Given the description of an element on the screen output the (x, y) to click on. 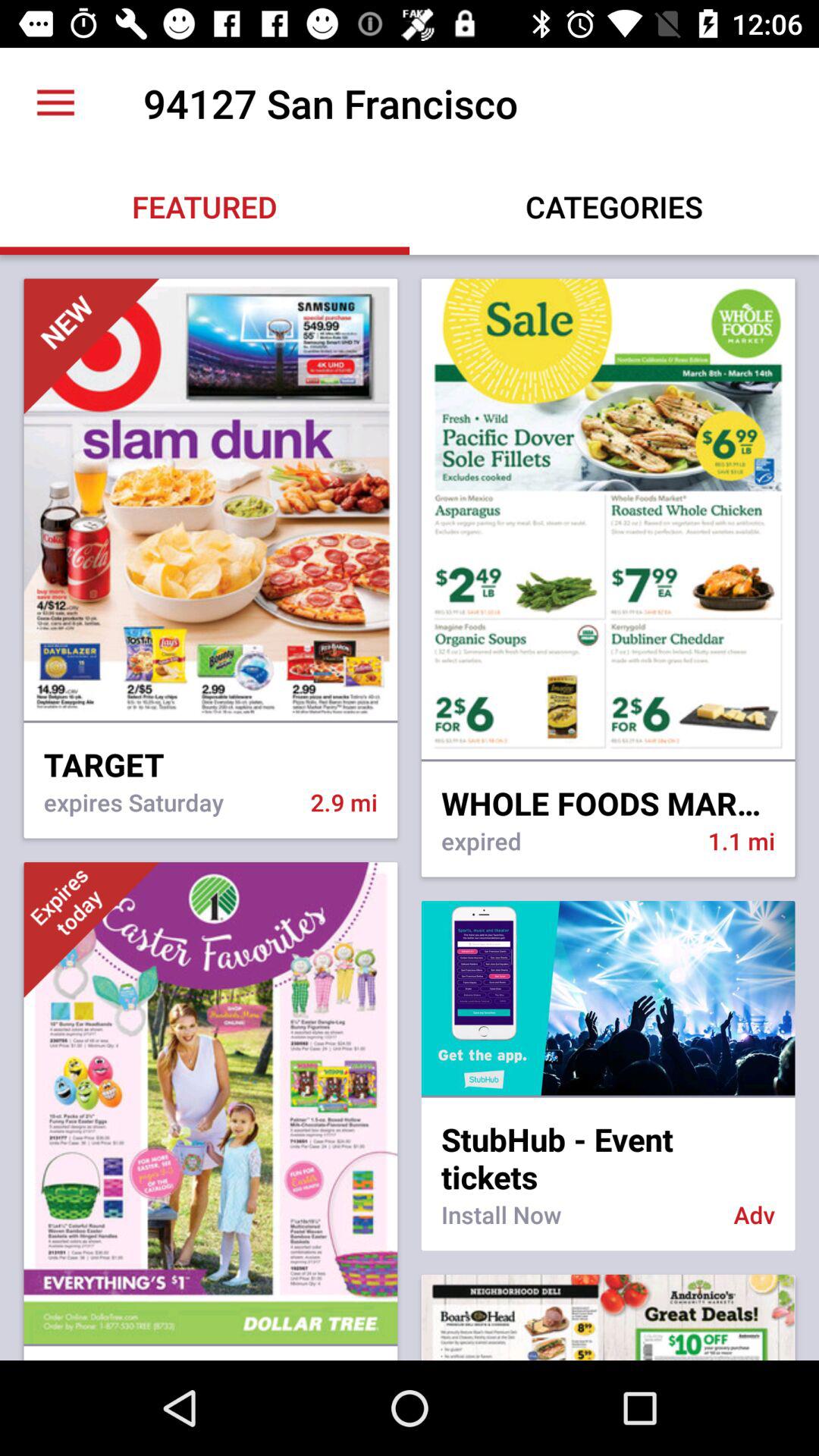
open the item below the expired icon (608, 997)
